Given the description of an element on the screen output the (x, y) to click on. 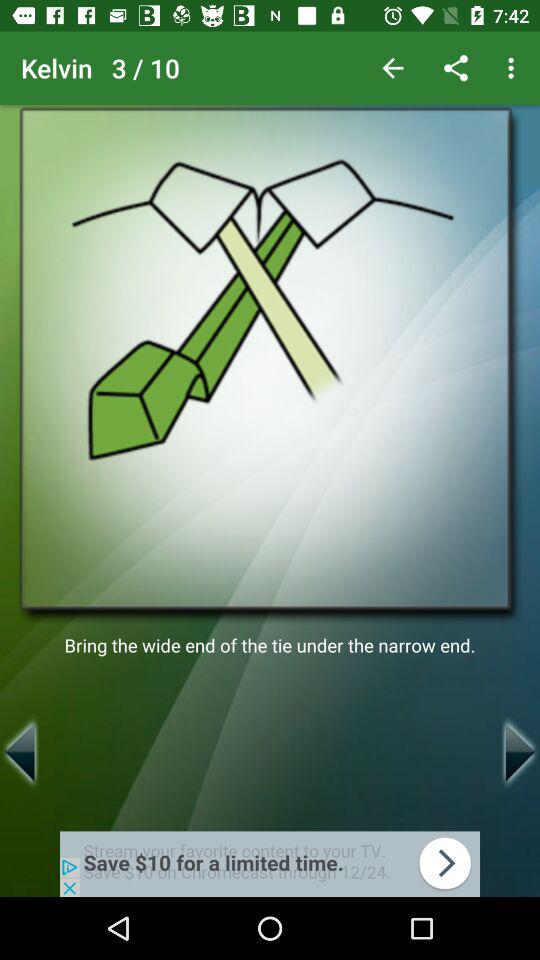
visit sponsor advertisement (270, 864)
